Given the description of an element on the screen output the (x, y) to click on. 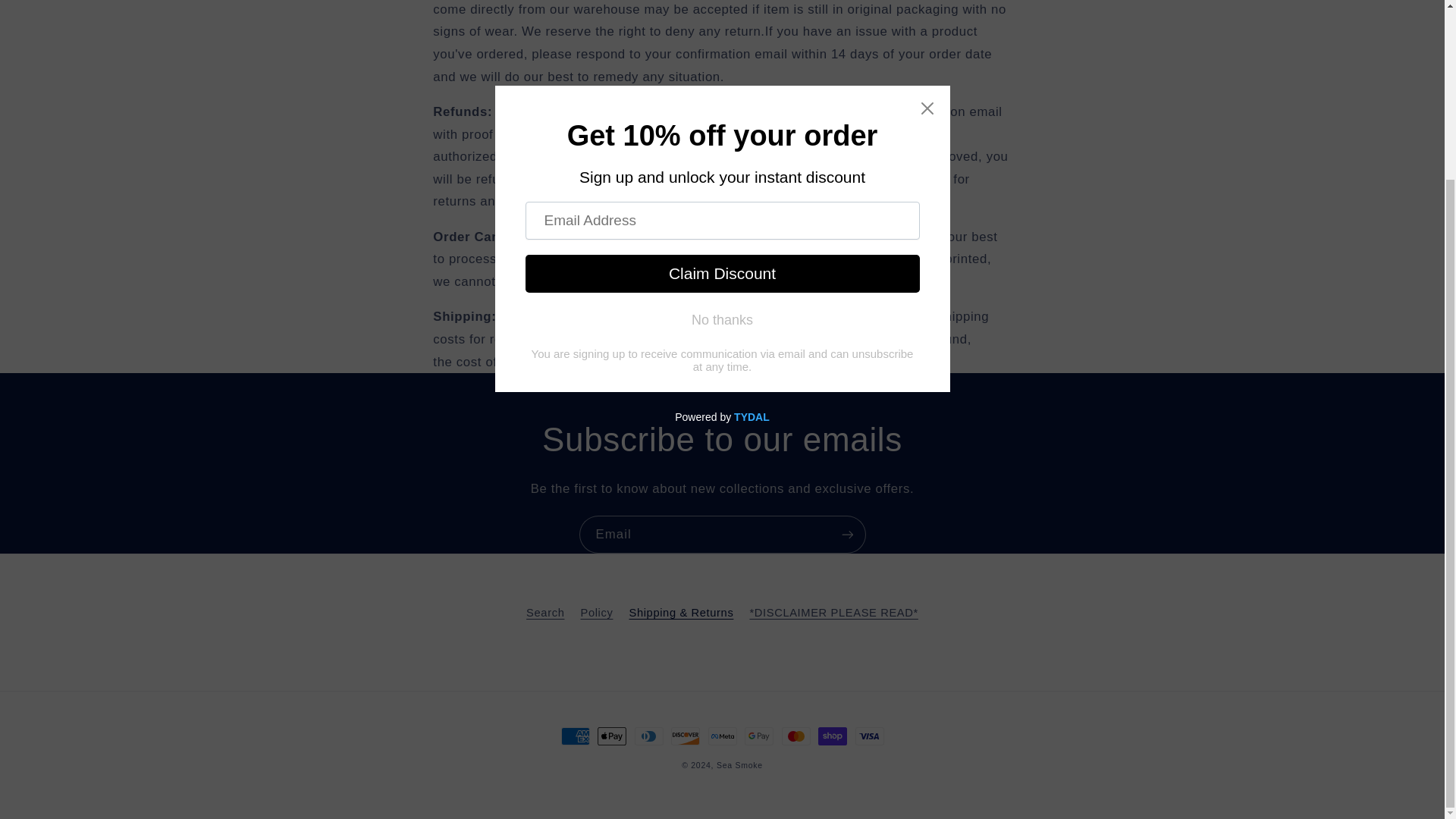
Sea Smoke (739, 764)
Search (544, 615)
Policy (595, 613)
